Given the description of an element on the screen output the (x, y) to click on. 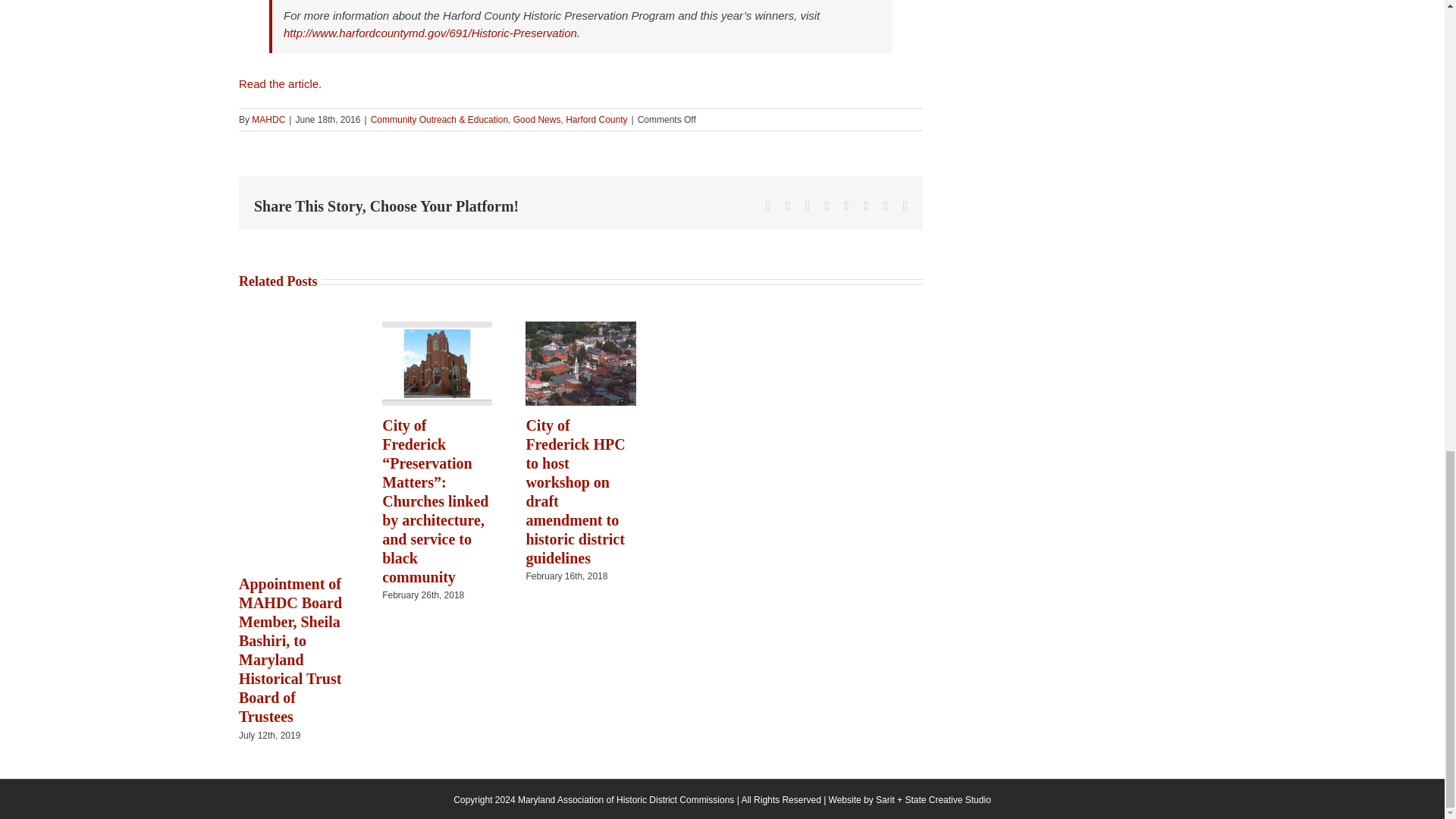
Posts by MAHDC (268, 119)
Harford County (596, 119)
MAHDC (268, 119)
Read the article.  (281, 83)
Good News (536, 119)
